Given the description of an element on the screen output the (x, y) to click on. 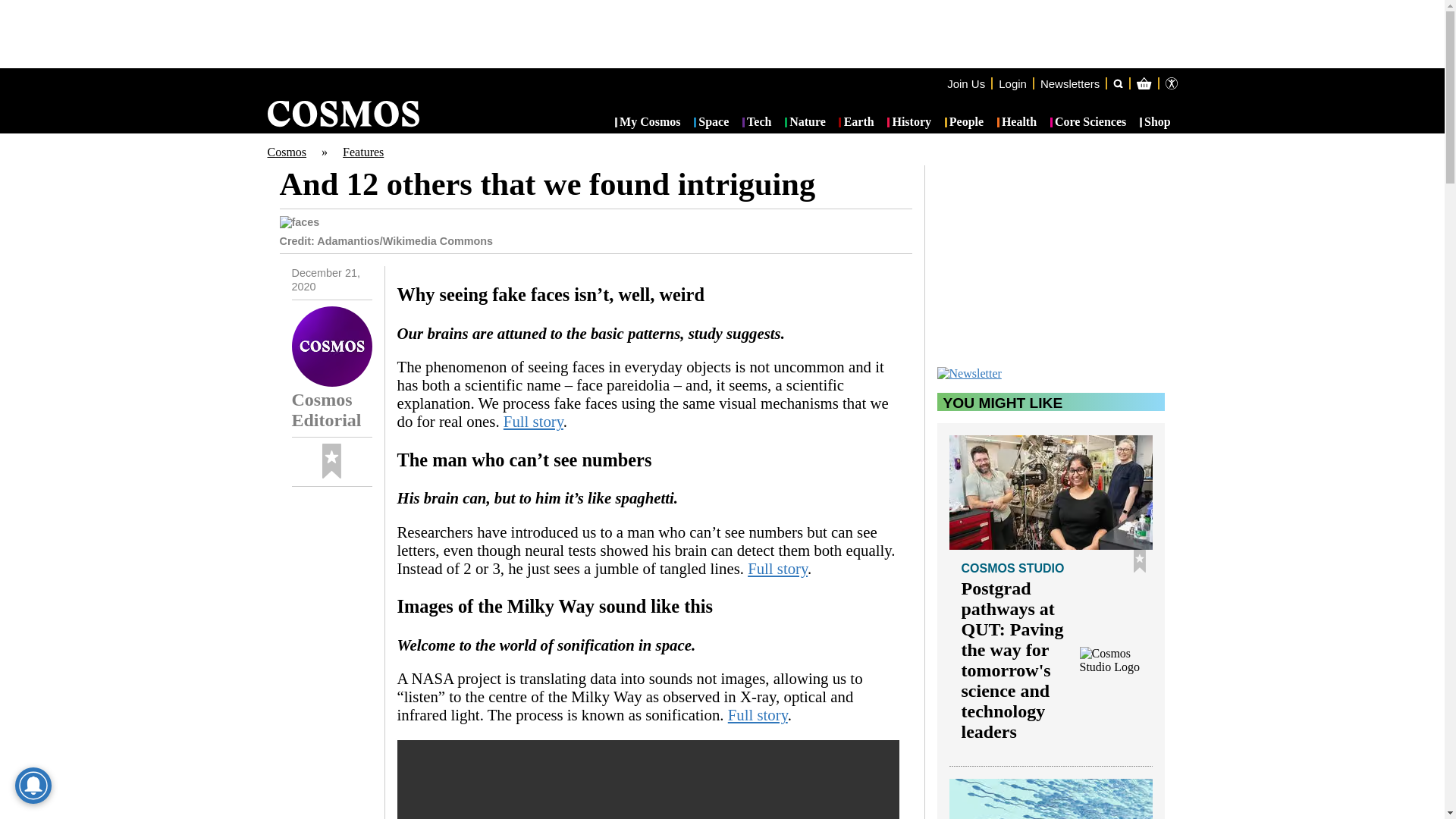
Login (1012, 82)
Newsletters (1070, 82)
Space (711, 122)
Core Sciences (1087, 122)
People (964, 122)
Full story (757, 714)
Earth (855, 122)
My Cosmos (647, 122)
Cosmos (285, 151)
Health (1016, 122)
Cart (1223, 144)
Full story (533, 420)
Shop (1155, 122)
Tech (756, 122)
Nature (804, 122)
